Given the description of an element on the screen output the (x, y) to click on. 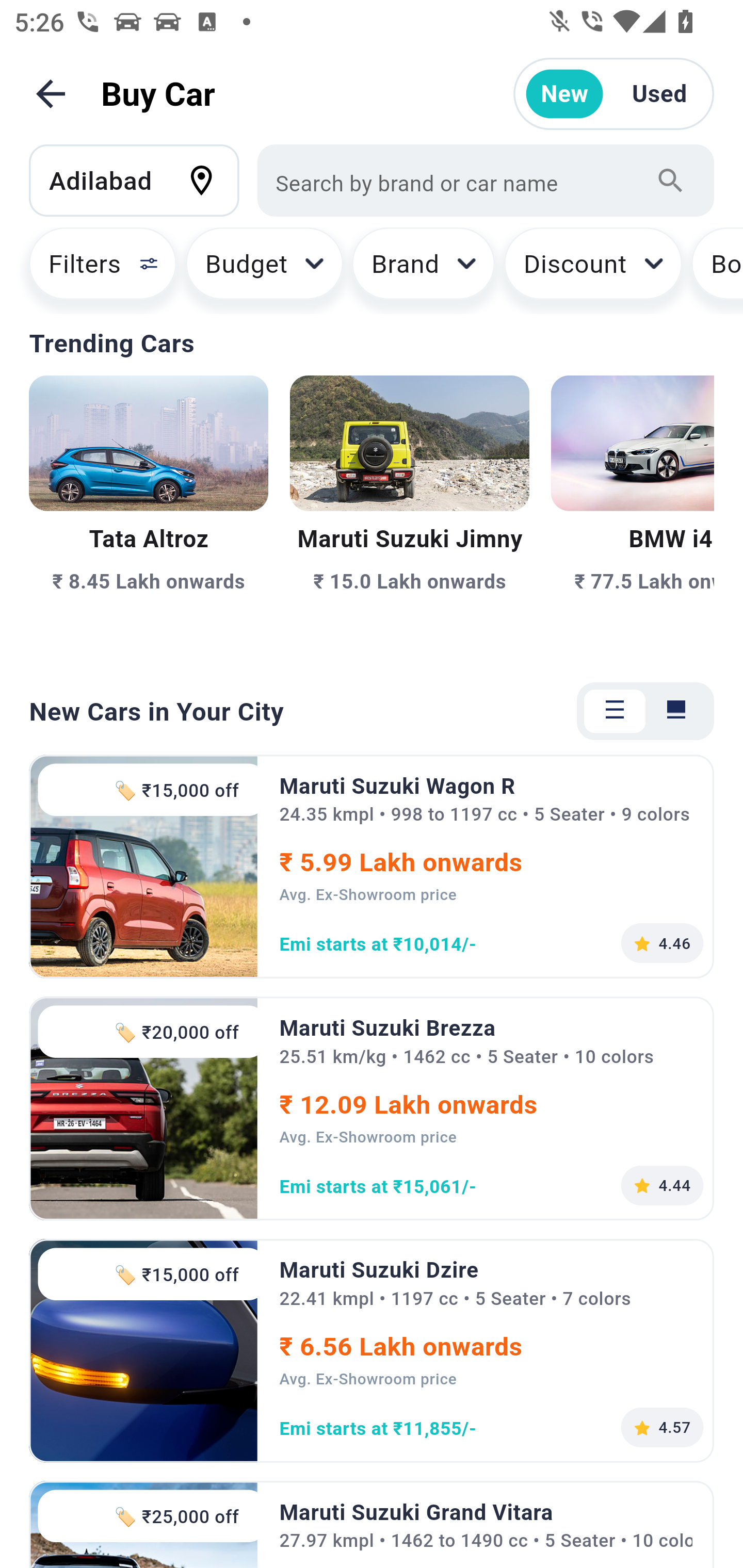
Back (50, 93)
New (564, 93)
Used (659, 93)
Adilabad (142, 180)
Filters (93, 270)
Budget (264, 270)
Brand (423, 270)
Discount (592, 270)
₹ 8.45 Lakh onwards Tata Altroz (148, 515)
₹ 15.0 Lakh onwards Maruti Suzuki Jimny (409, 515)
₹ 77.5 Lakh onwards BMW i4 (632, 515)
Tab 1 of 2 (614, 710)
Tab 2 of 2 (675, 710)
